Given the description of an element on the screen output the (x, y) to click on. 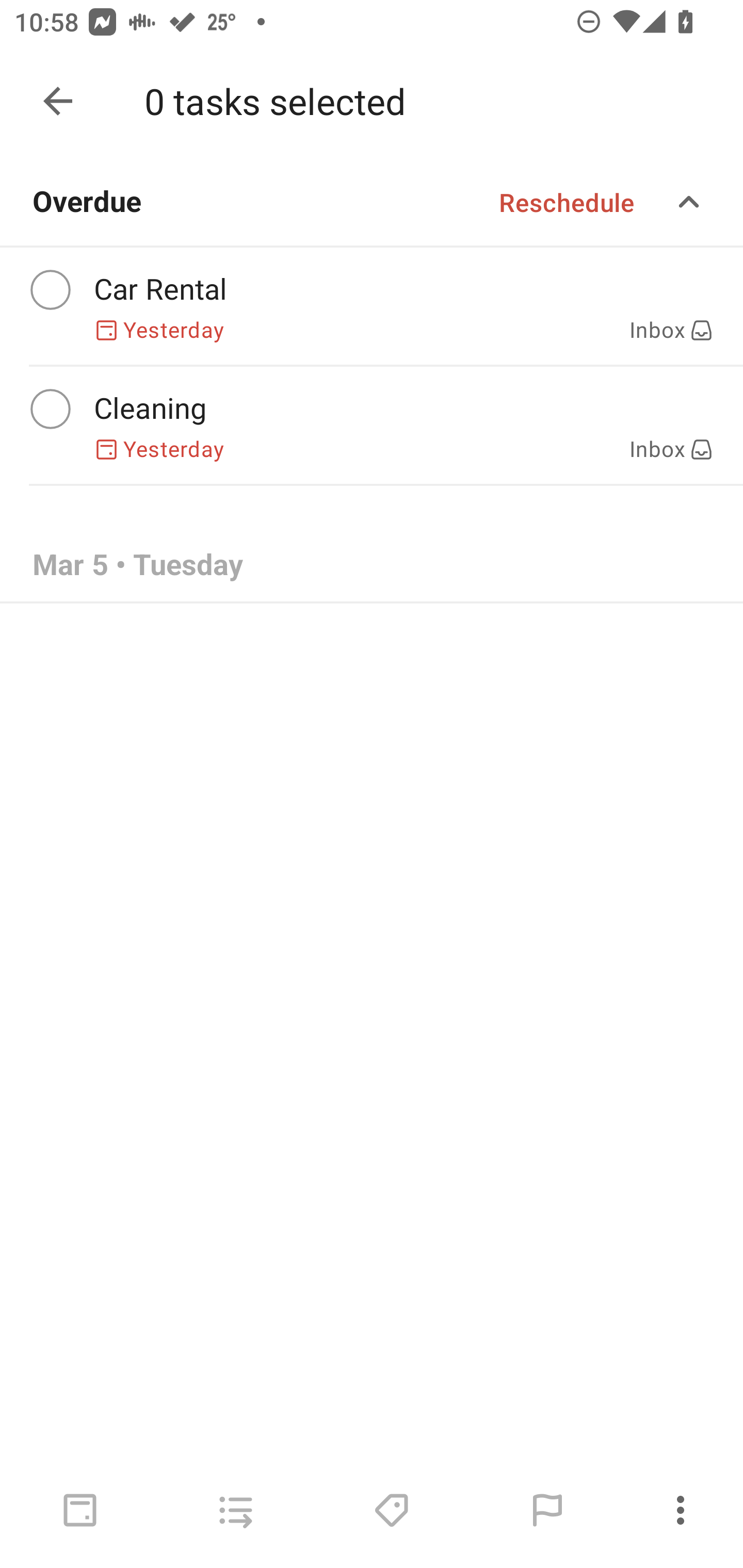
Today More options (371, 100)
Done (57, 100)
Overdue Reschedule Expand/collapse (371, 202)
Reschedule (566, 202)
Complete Car Rental Yesterday Inbox (371, 306)
Complete (50, 289)
Complete Cleaning Yesterday Inbox (371, 425)
Complete (50, 409)
Mar 5 • Tuesday (371, 565)
Schedule (80, 1510)
Move (235, 1510)
Labels (391, 1510)
Set priority (547, 1510)
More options (683, 1510)
